Given the description of an element on the screen output the (x, y) to click on. 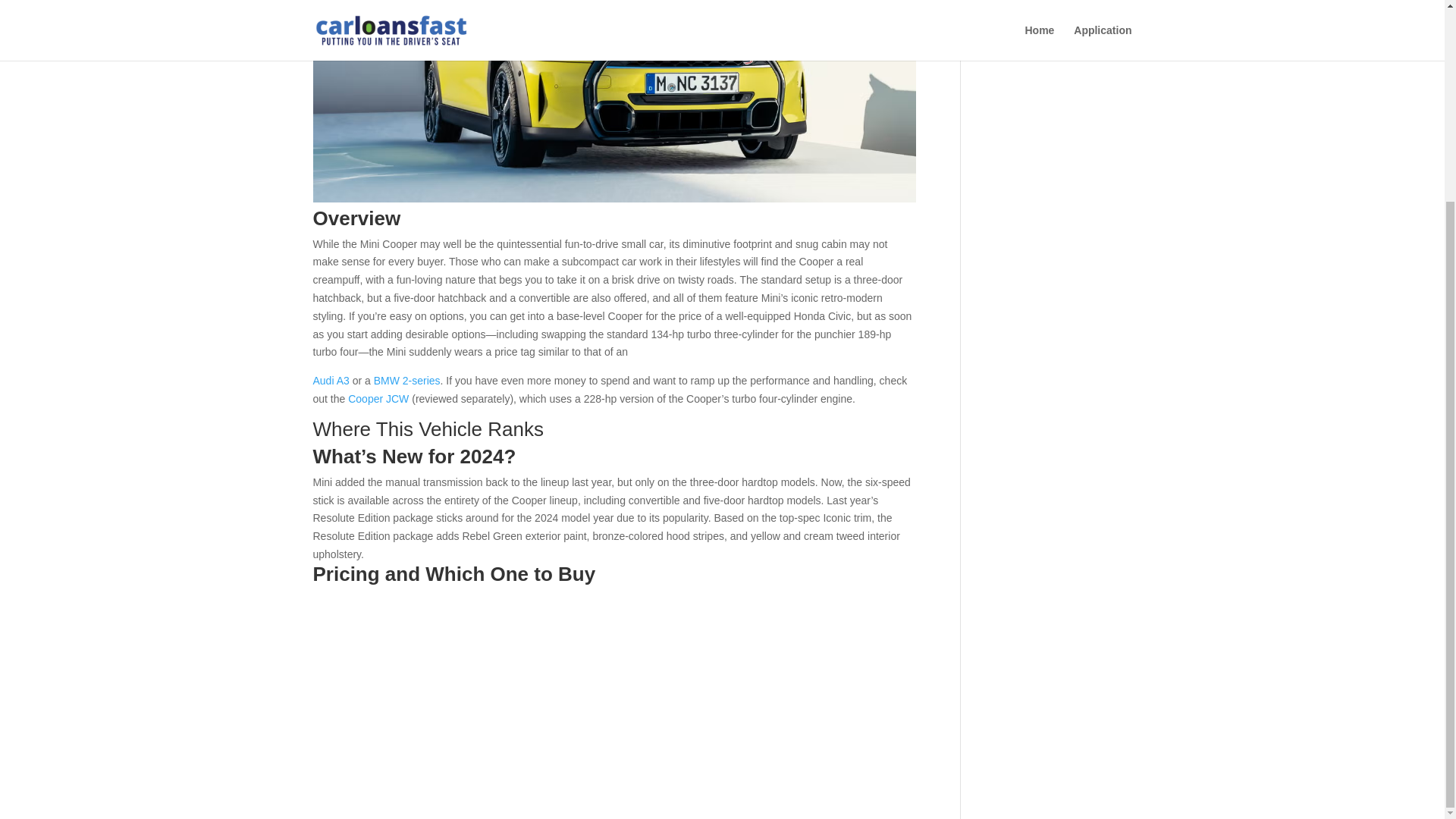
Cooper JCW (378, 398)
Audi A3 (331, 380)
BMW 2-series (407, 380)
